Given the description of an element on the screen output the (x, y) to click on. 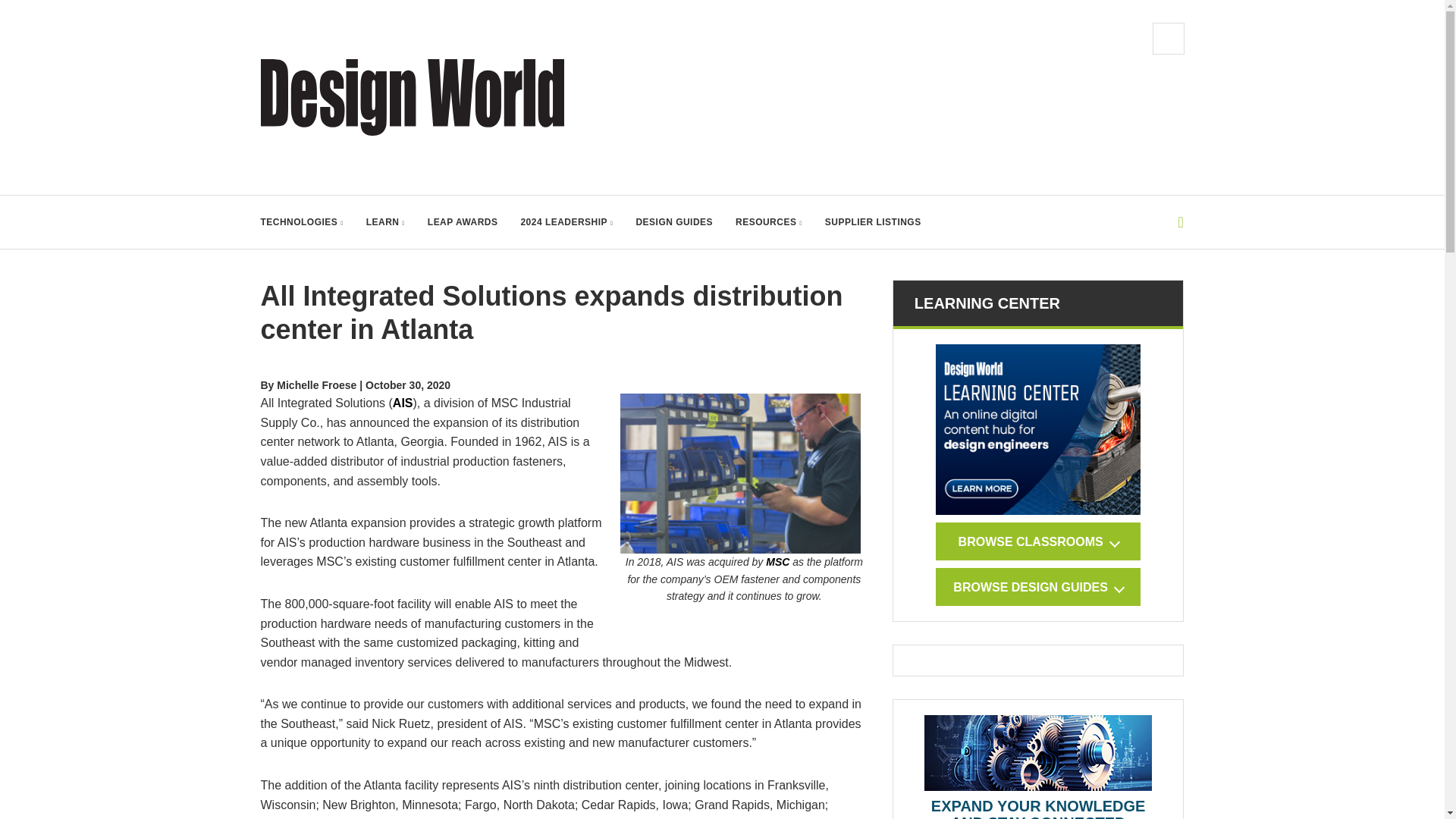
Design World (412, 96)
2024 LEADERSHIP (565, 221)
TECHNOLOGIES (301, 221)
RESOURCES (768, 221)
DESIGN GUIDES (673, 221)
LEAP AWARDS (462, 221)
SUPPLIER LISTINGS (873, 221)
